Given the description of an element on the screen output the (x, y) to click on. 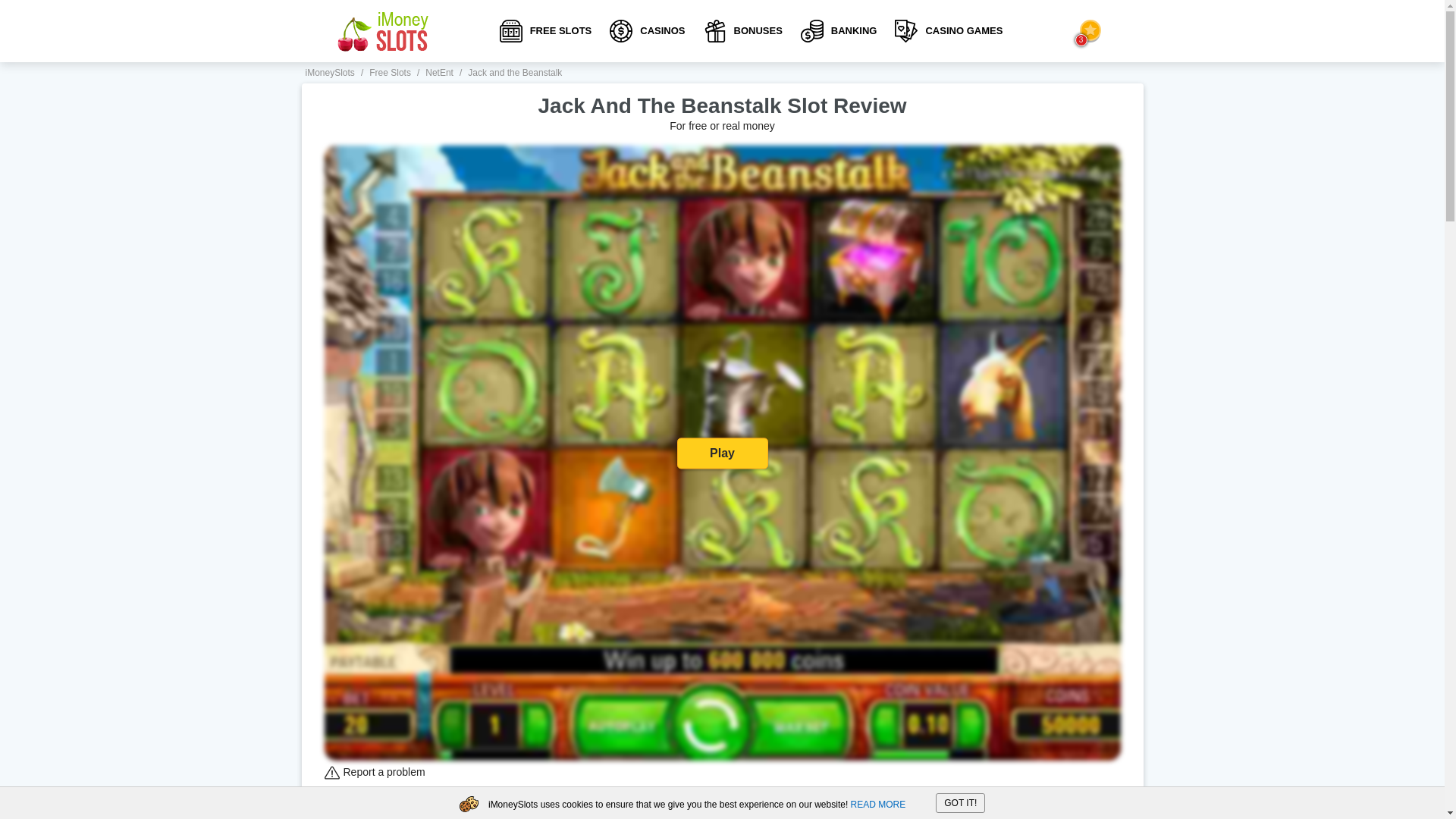
BANKING (838, 30)
iMoneySlots (382, 30)
CASINOS (646, 30)
iMoneySlots (328, 72)
Free Slots (389, 72)
BONUSES (743, 30)
Free Slots (389, 72)
NetEnt (438, 72)
CASINO GAMES (948, 30)
NetEnt (438, 72)
